Given the description of an element on the screen output the (x, y) to click on. 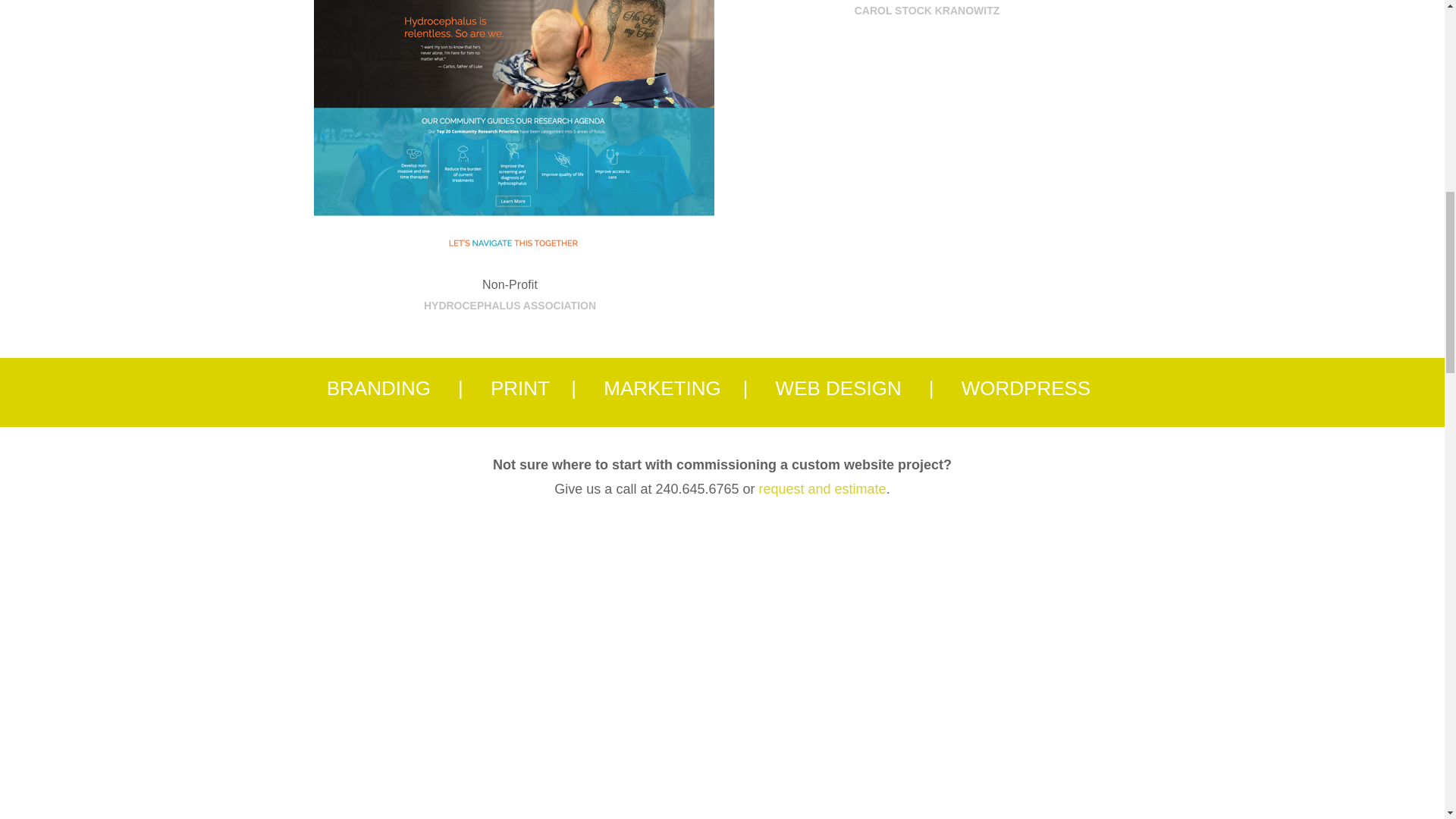
request and estimate (822, 488)
BRANDING (378, 387)
WORDPRESS (1025, 387)
MARKETING (662, 387)
WEB DESIGN (838, 387)
PRINT (520, 387)
